Given the description of an element on the screen output the (x, y) to click on. 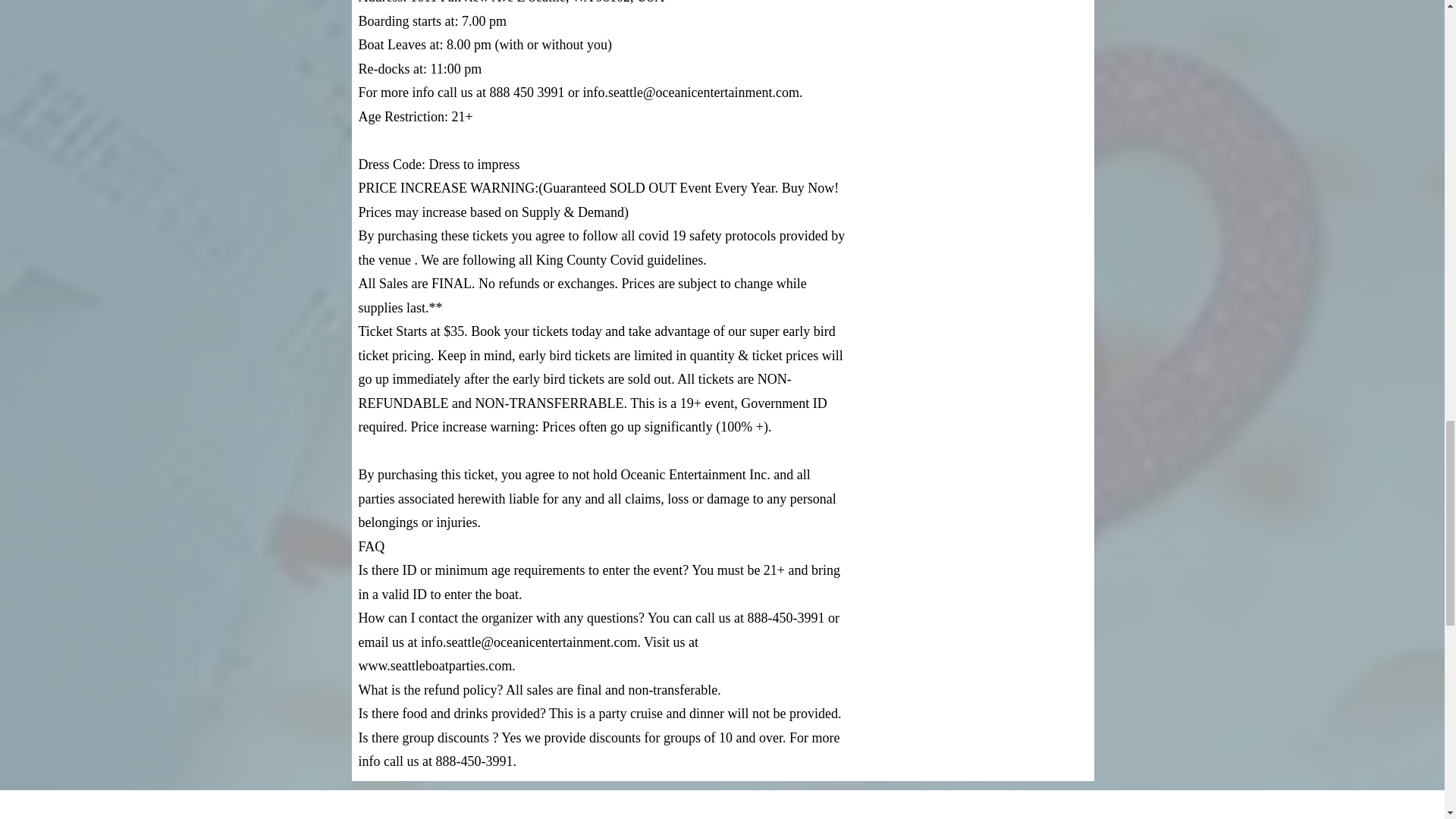
www.seattleboatparties.com (435, 665)
